Given the description of an element on the screen output the (x, y) to click on. 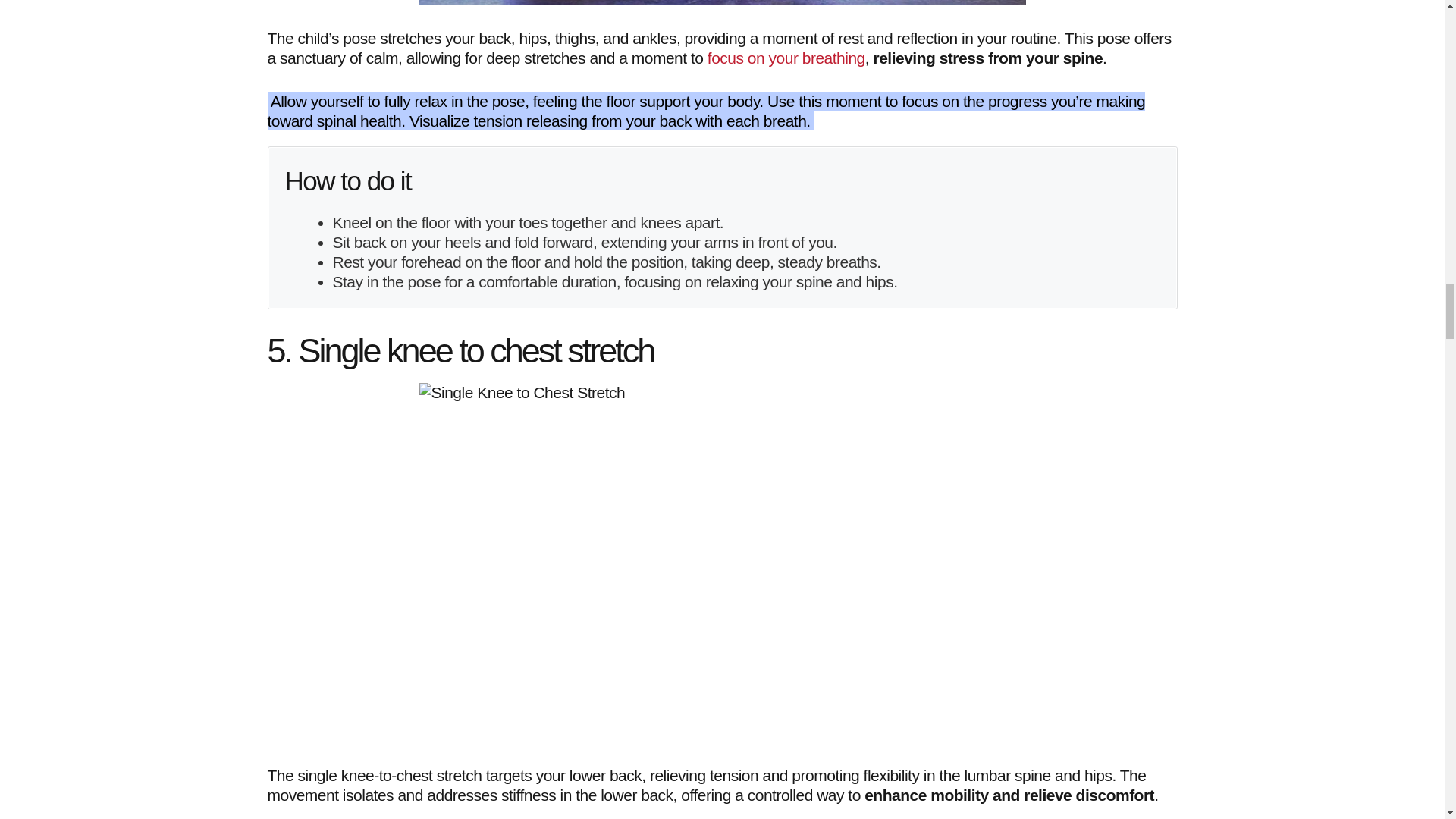
focus on your breathing (785, 57)
